Given the description of an element on the screen output the (x, y) to click on. 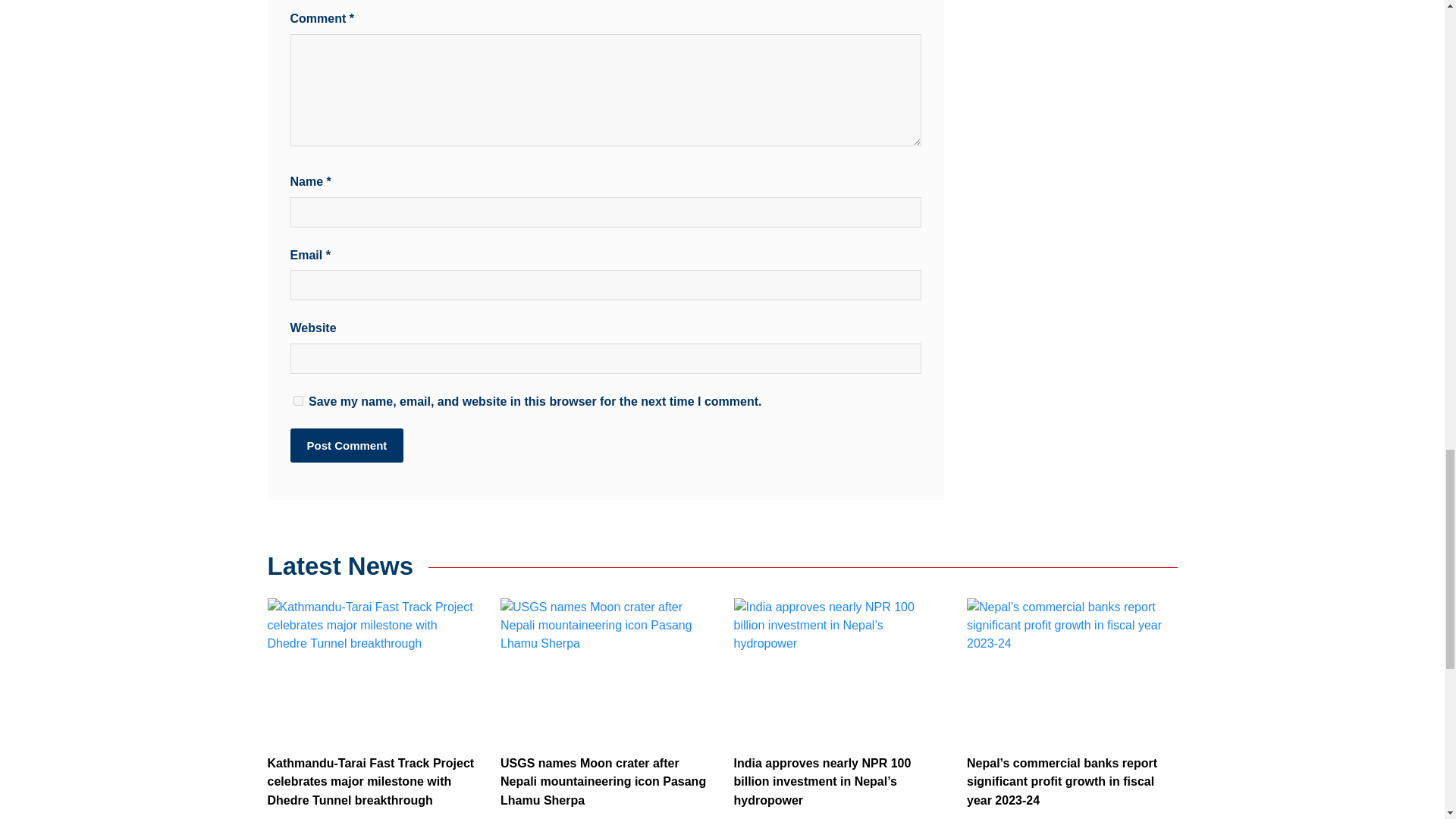
yes (297, 400)
Post Comment (346, 445)
